Given the description of an element on the screen output the (x, y) to click on. 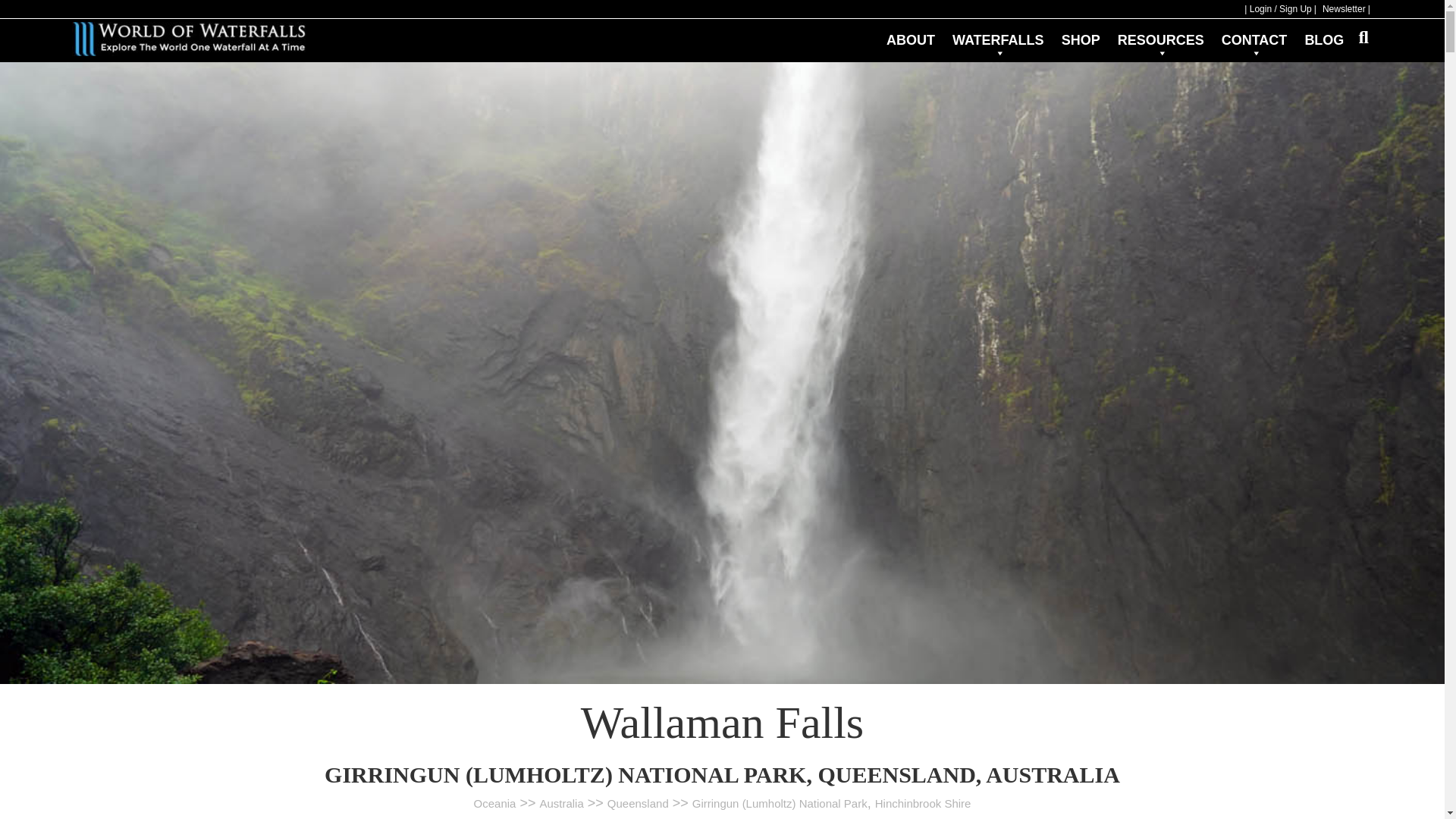
RESOURCES (1160, 38)
ABOUT (910, 32)
SHOP (1080, 32)
Newsletter (1347, 9)
World of Waterfalls (188, 39)
Find Waterfalls on the World of Waterfalls (997, 38)
CONTACT (1254, 38)
WATERFALLS (997, 38)
About Us at the World of Waterfalls (910, 32)
